Given the description of an element on the screen output the (x, y) to click on. 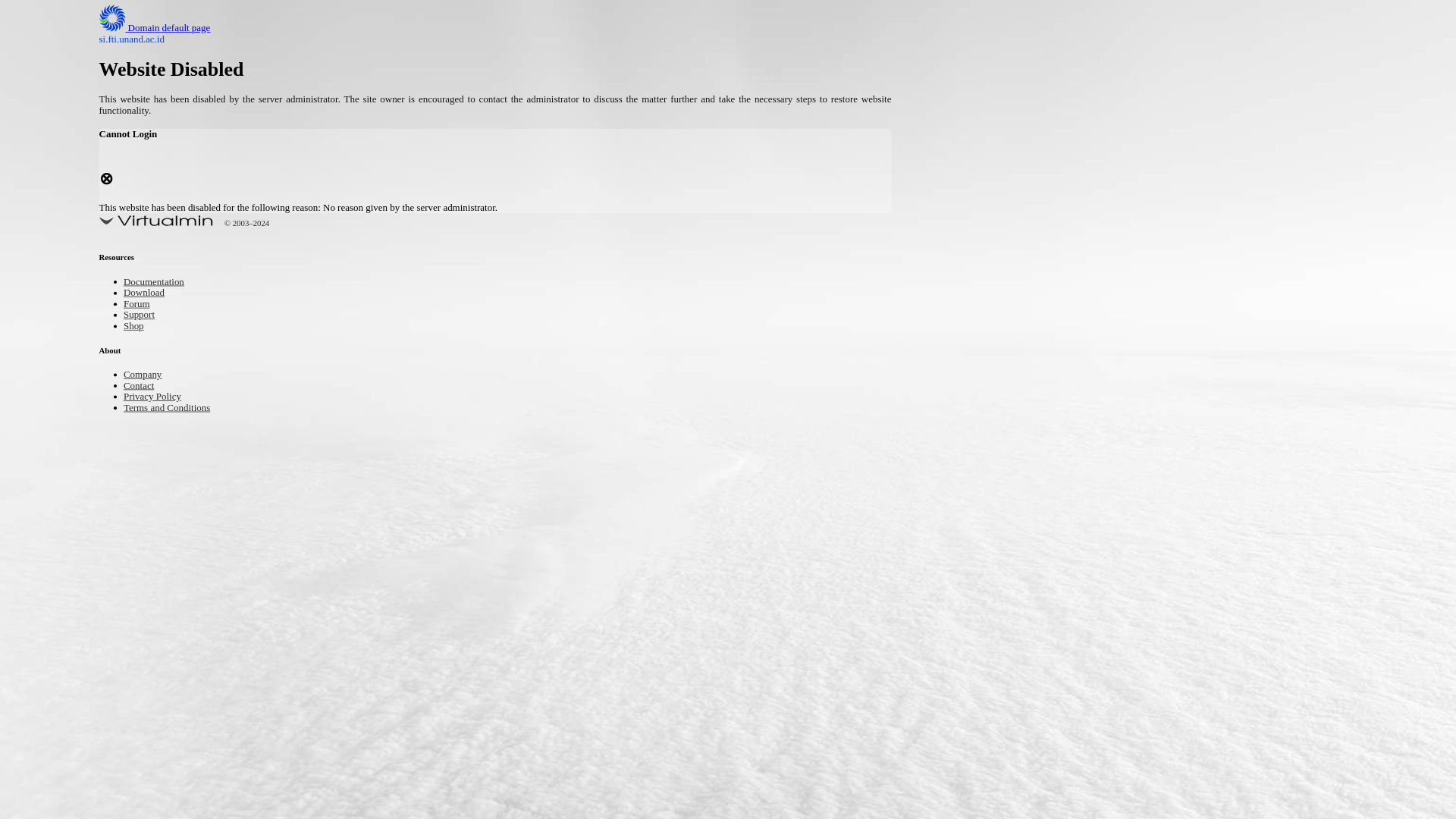
Support (142, 315)
Domain default page (167, 29)
Documentation (160, 282)
Forum (139, 305)
Terms and Conditions (176, 408)
Company (146, 374)
Privacy Policy (159, 397)
Shop (135, 327)
Contact (142, 386)
Download (148, 293)
